Given the description of an element on the screen output the (x, y) to click on. 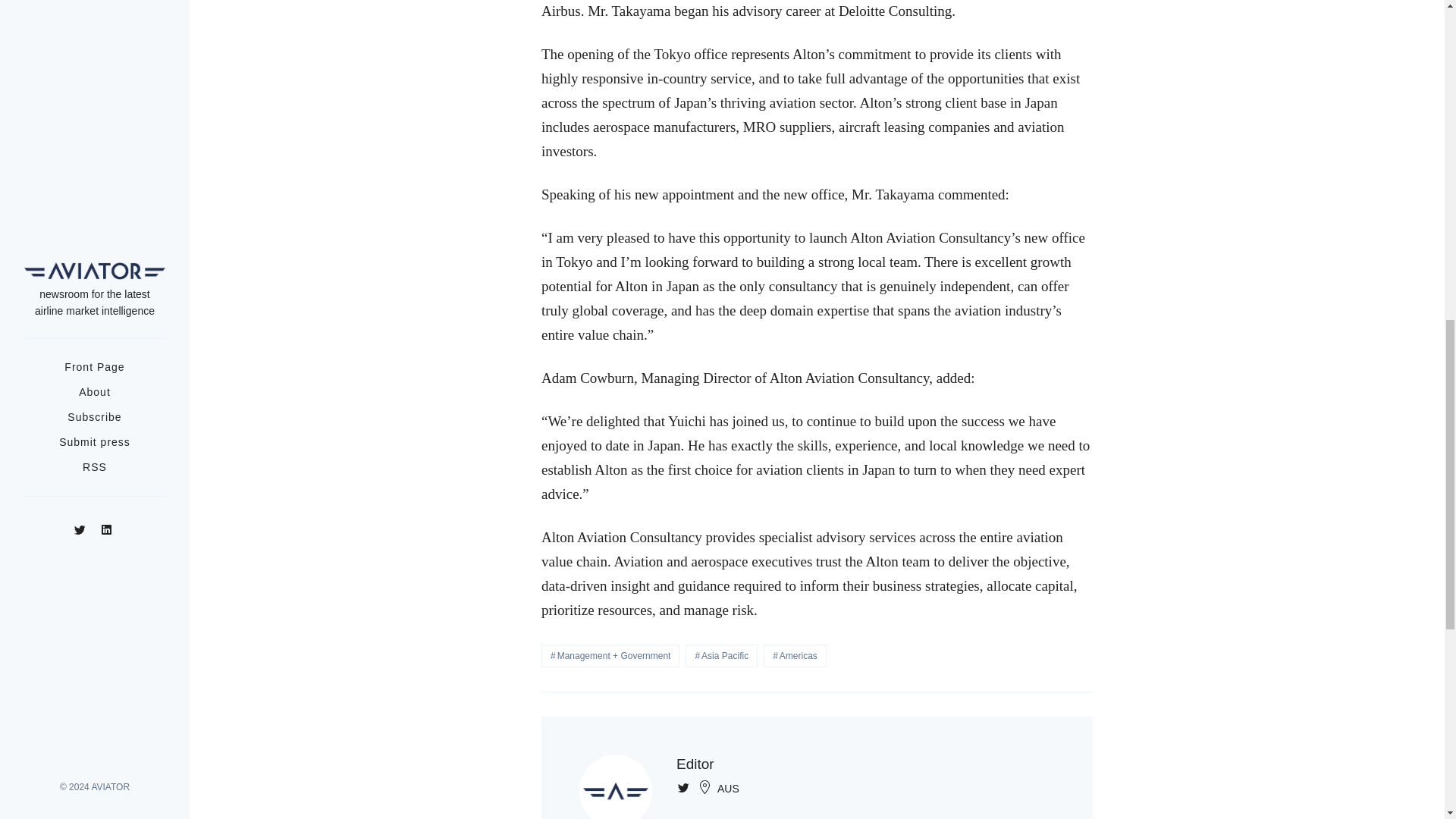
Americas (794, 655)
Asia Pacific (721, 655)
Editor (695, 763)
